Given the description of an element on the screen output the (x, y) to click on. 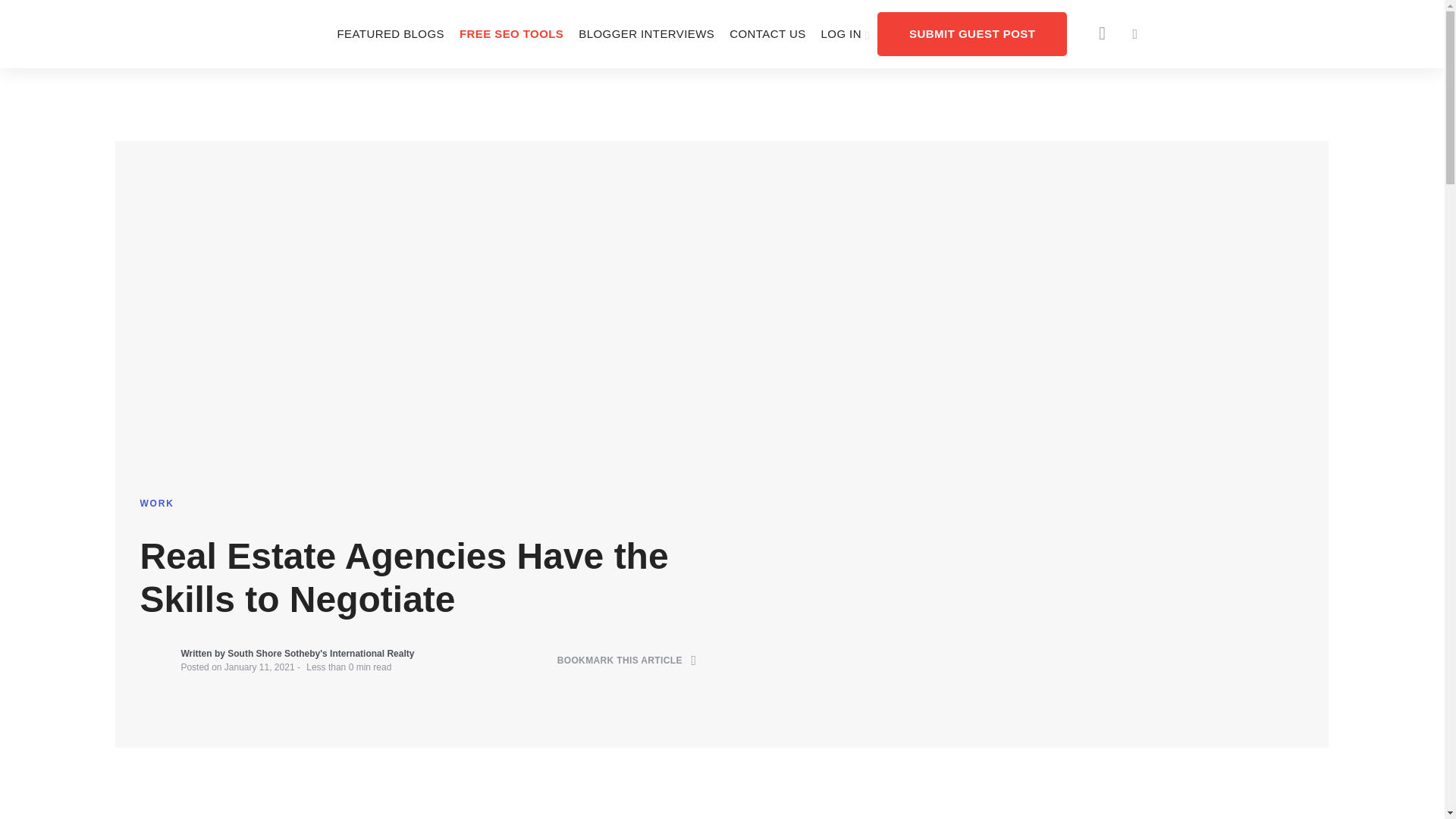
FEATURED BLOGS (390, 33)
FREE SEO TOOLS (510, 33)
LOG IN (845, 33)
LOG IN (845, 33)
BLOGGER INTERVIEWS (646, 33)
FEATURED BLOGS (390, 33)
SUBMIT GUEST POST (972, 33)
South Shore Sotheby's International Realty  (321, 653)
CONTACT US (767, 33)
FREE SEO TOOLS (510, 33)
CONTACT US (767, 33)
BLOGGER INTERVIEWS (646, 33)
BOOKMARK THIS ARTICLE (627, 660)
WORK (156, 502)
January 11, 2021 (259, 666)
